Given the description of an element on the screen output the (x, y) to click on. 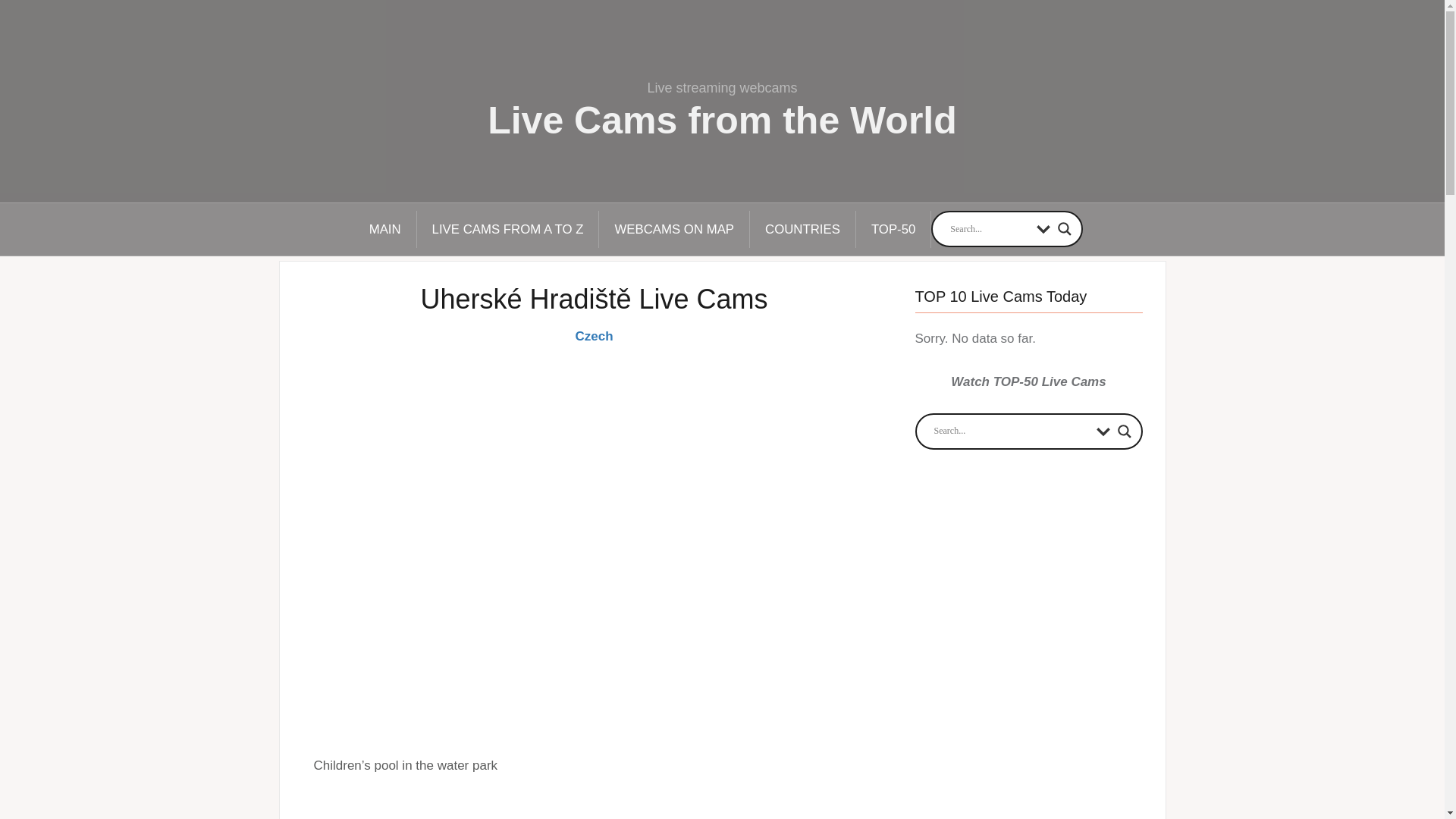
Czech (593, 336)
Watch TOP-50 Live Cams (1027, 381)
TOP-50 (893, 229)
MAIN (384, 229)
Live Cams from the World (721, 120)
WEBCAMS ON MAP (673, 229)
COUNTRIES (802, 229)
LIVE CAMS FROM A TO Z (507, 229)
